Given the description of an element on the screen output the (x, y) to click on. 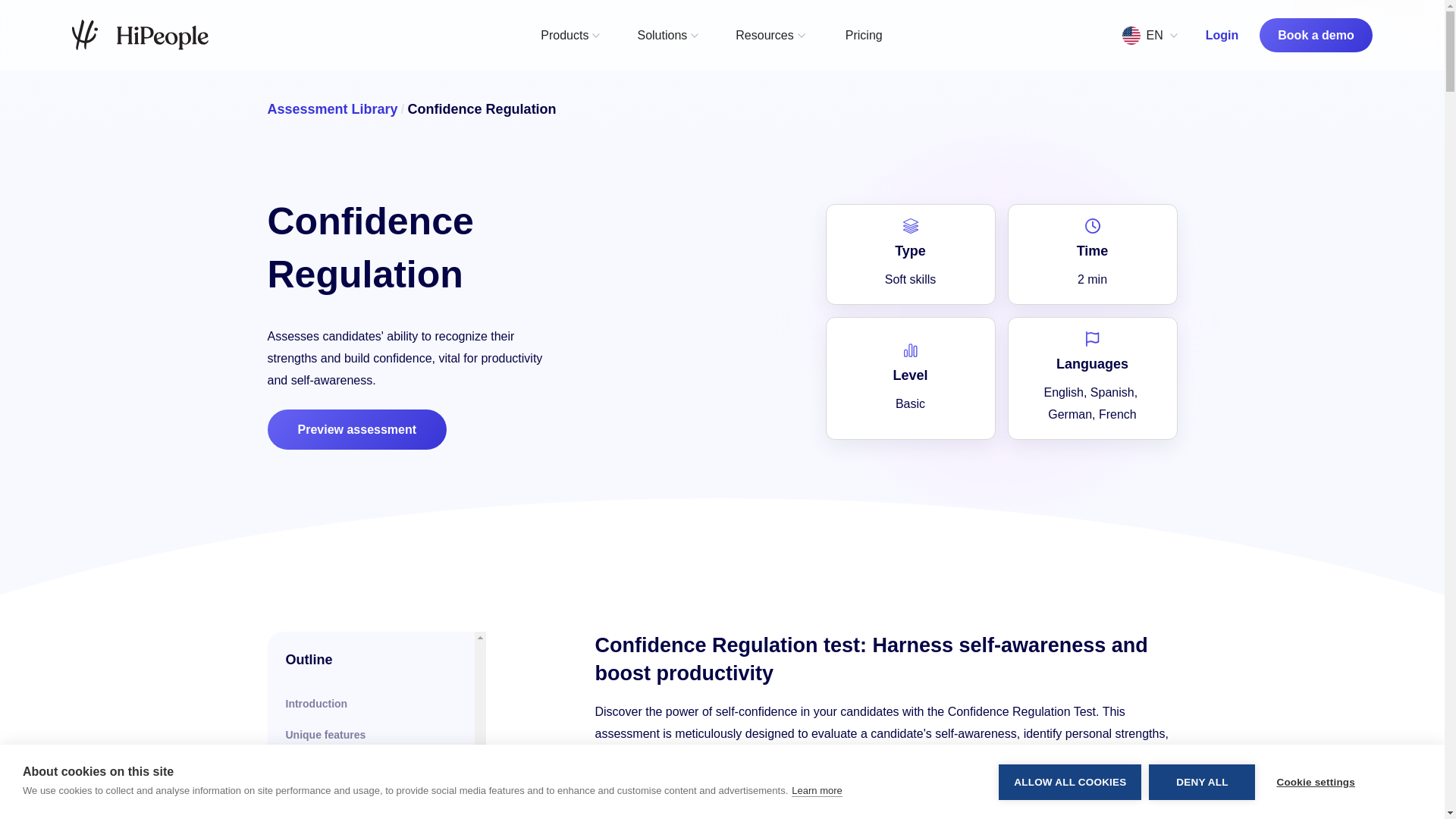
Cookie settings (1315, 781)
ALLOW ALL COOKIES (1069, 787)
Learn more (816, 805)
DENY ALL (1201, 784)
